Given the description of an element on the screen output the (x, y) to click on. 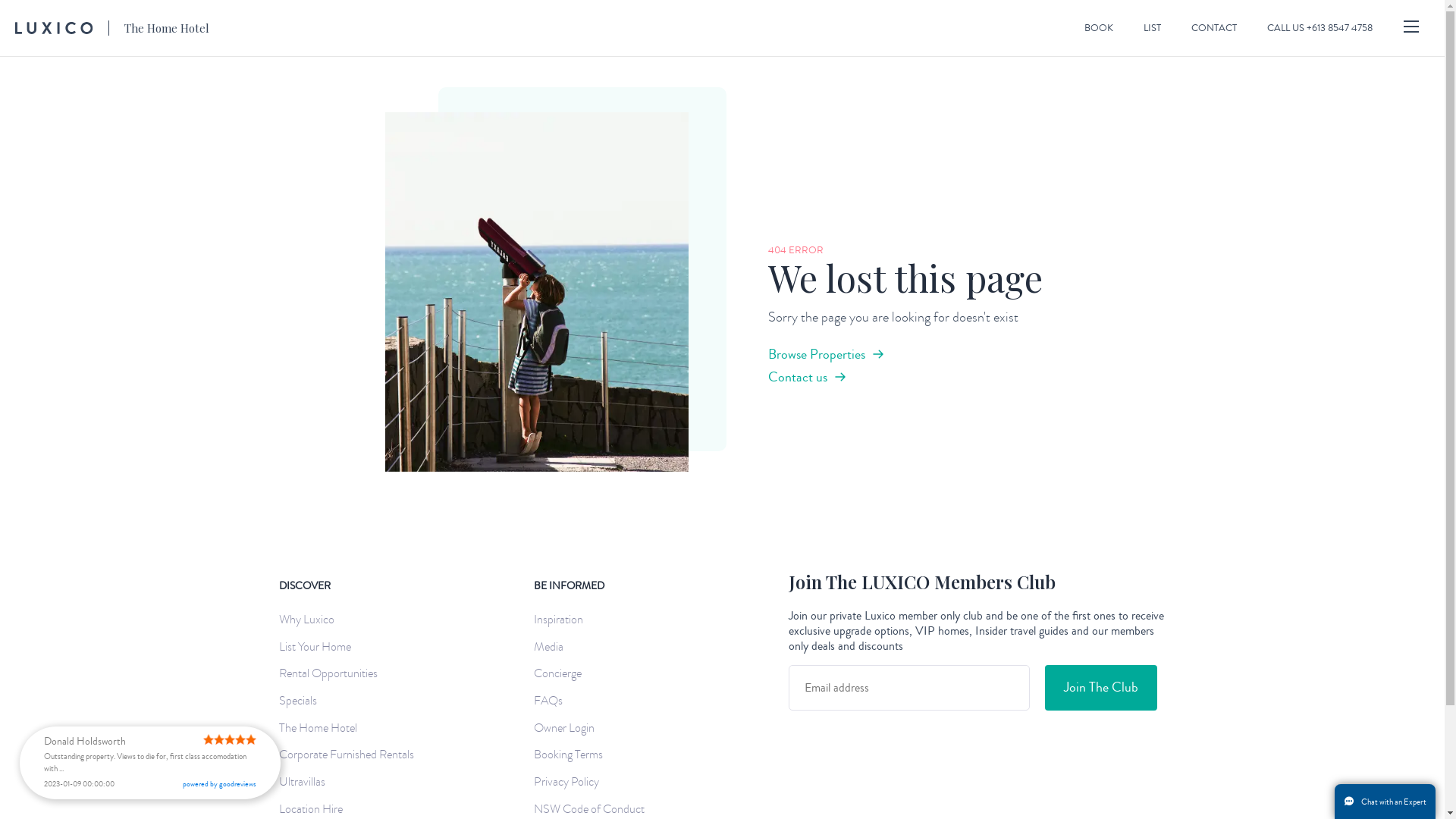
List Your Home Element type: text (318, 646)
Why Luxico Element type: text (310, 619)
The Home Hotel Element type: text (112, 27)
Media Element type: text (552, 646)
Corporate Furnished Rentals Element type: text (350, 754)
Ultravillas Element type: text (305, 781)
LIST Element type: text (1152, 27)
Rental Opportunities Element type: text (332, 673)
Concierge Element type: text (561, 673)
CONTACT Element type: text (1213, 27)
CALL US +613 8547 4758 Element type: text (1319, 27)
The Home Hotel Element type: text (321, 728)
Privacy Policy Element type: text (569, 781)
FAQs Element type: text (551, 700)
Join The Club Element type: text (1100, 687)
Owner Login Element type: text (567, 728)
Specials Element type: text (301, 700)
Booking Terms Element type: text (571, 754)
powered by goodreviews Element type: text (219, 784)
Inspiration Element type: text (561, 619)
BOOK Element type: text (1098, 27)
